Given the description of an element on the screen output the (x, y) to click on. 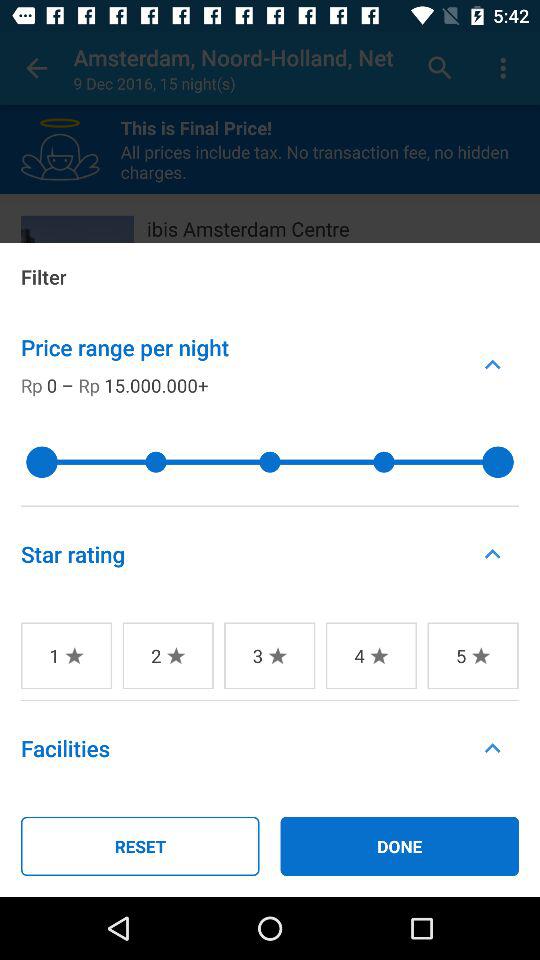
turn on icon below the facilities (140, 846)
